Given the description of an element on the screen output the (x, y) to click on. 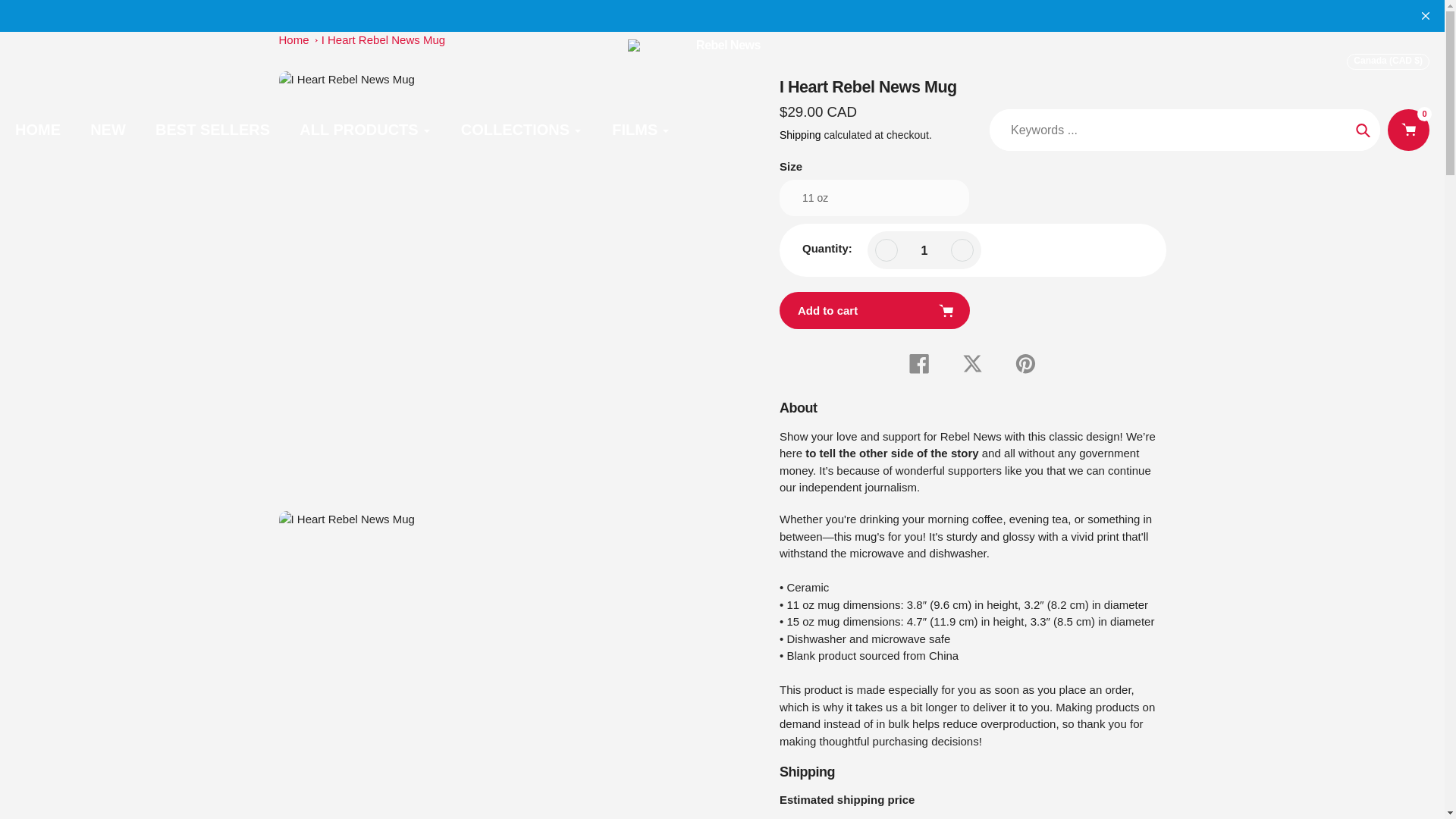
1 (924, 250)
